Given the description of an element on the screen output the (x, y) to click on. 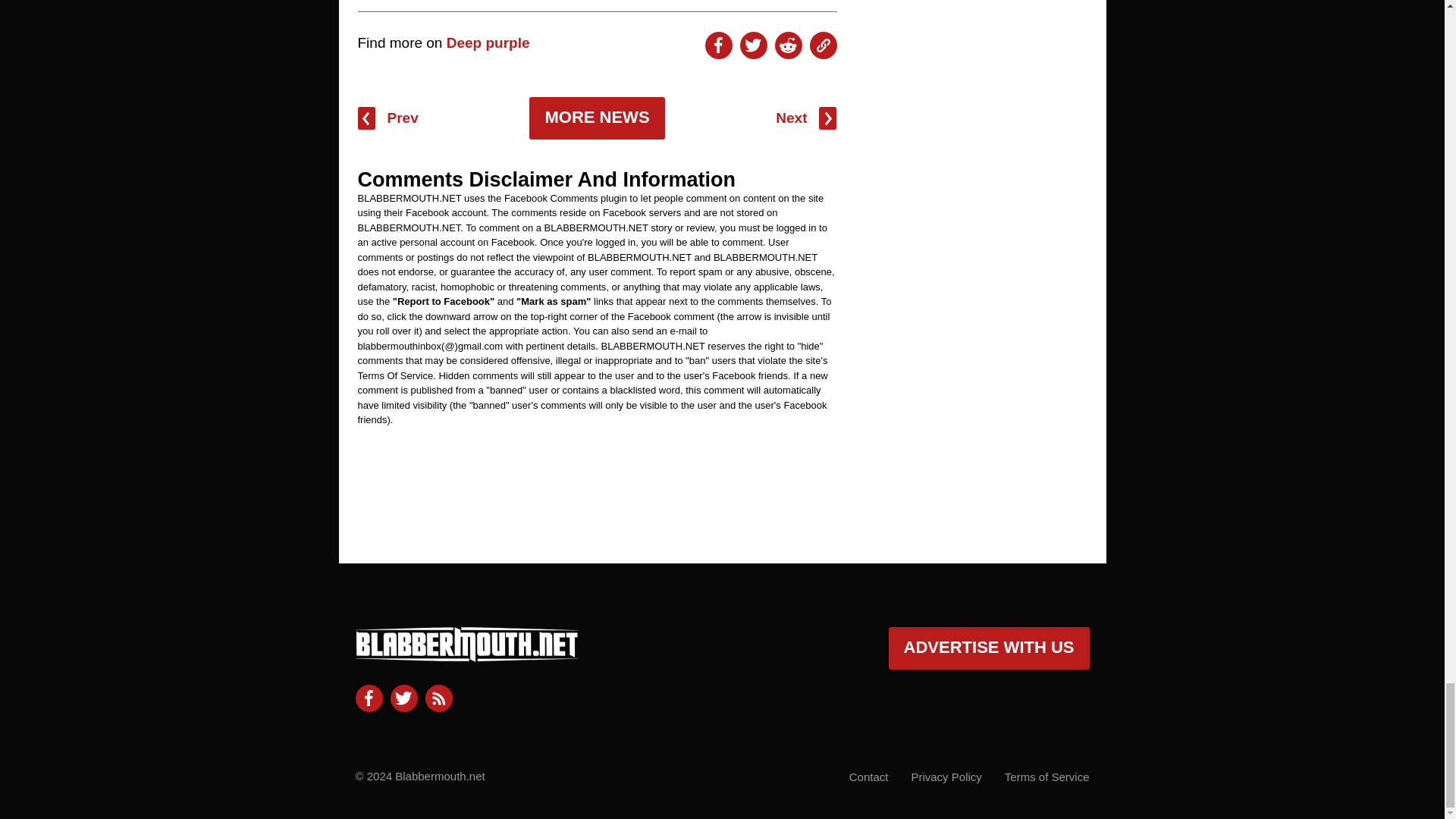
blabbermouth (466, 655)
Share On Twitter (753, 44)
Share On Facebook (718, 44)
MORE NEWS (596, 118)
Copy To Clipboard (823, 44)
Deep purple (487, 42)
Share On Reddit (788, 44)
Next (805, 118)
Prev (388, 118)
